Given the description of an element on the screen output the (x, y) to click on. 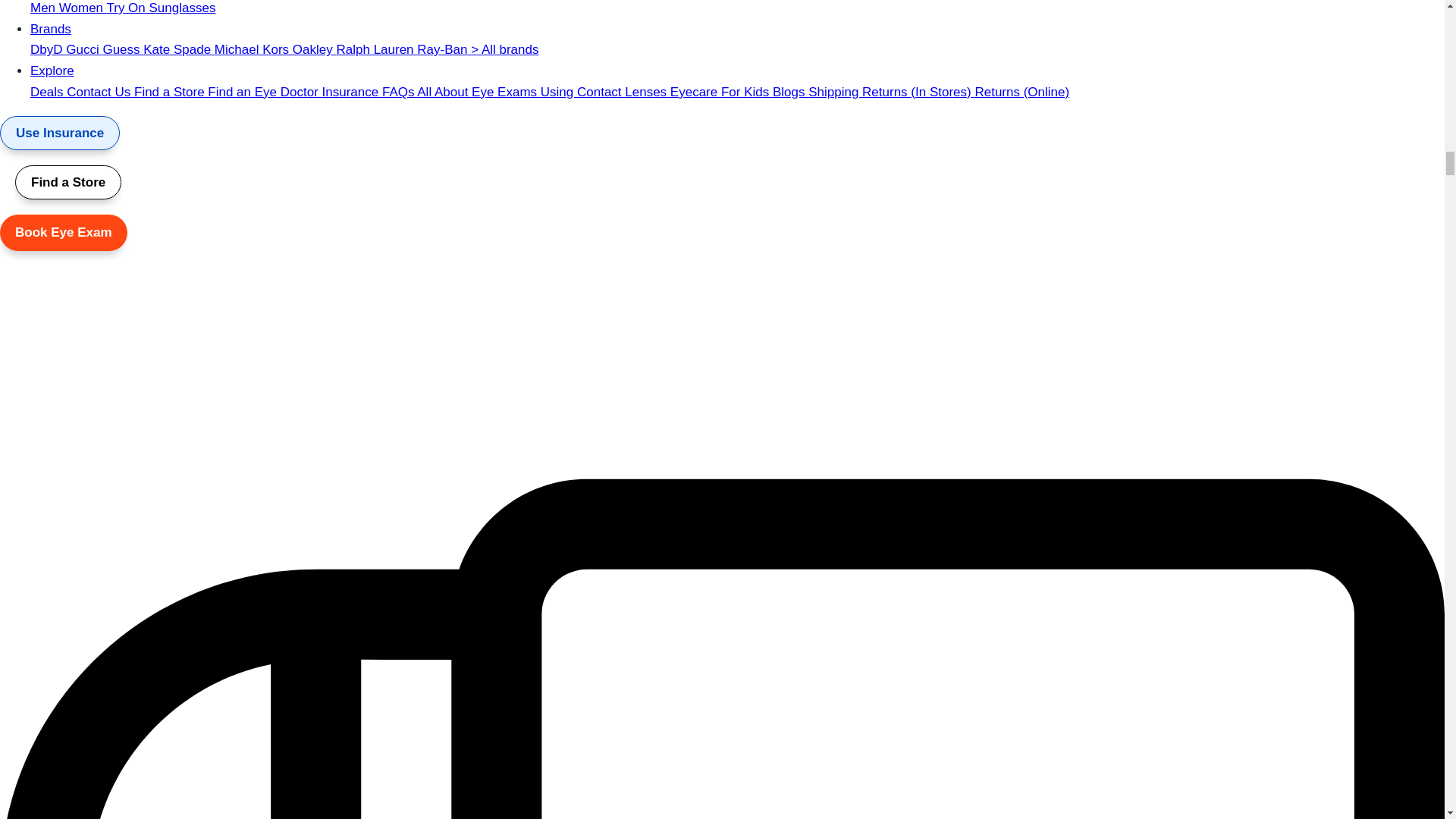
Use Insurance (59, 132)
Find a Store (67, 182)
Book Eye Exam (64, 232)
